Given the description of an element on the screen output the (x, y) to click on. 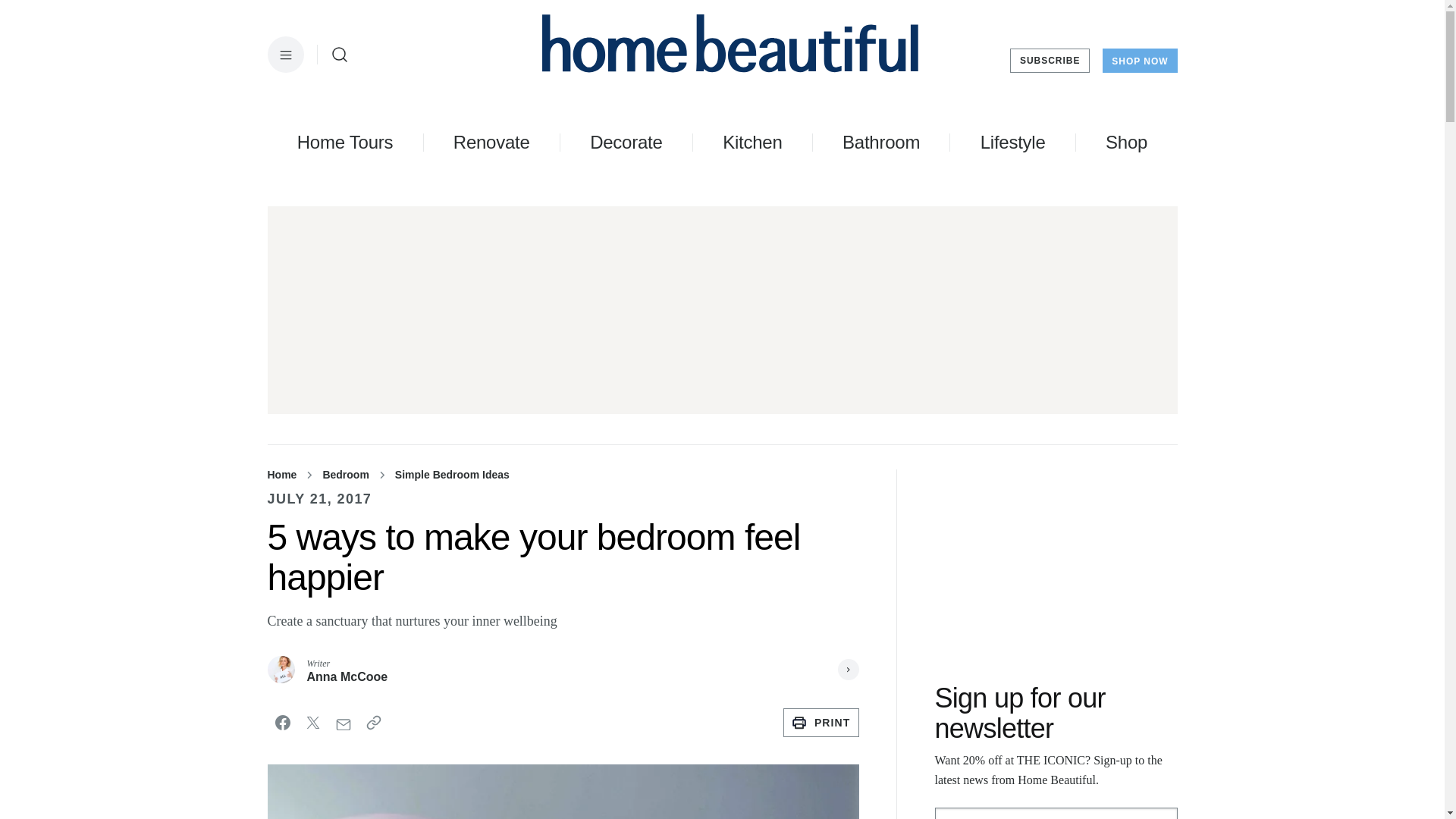
SUBSCRIBE (1049, 60)
Shop (1126, 141)
Lifestyle (1012, 141)
Home Tours (345, 141)
Kitchen (751, 141)
Decorate (625, 141)
Bathroom (881, 141)
SHOP NOW (1139, 60)
Renovate (490, 141)
